Given the description of an element on the screen output the (x, y) to click on. 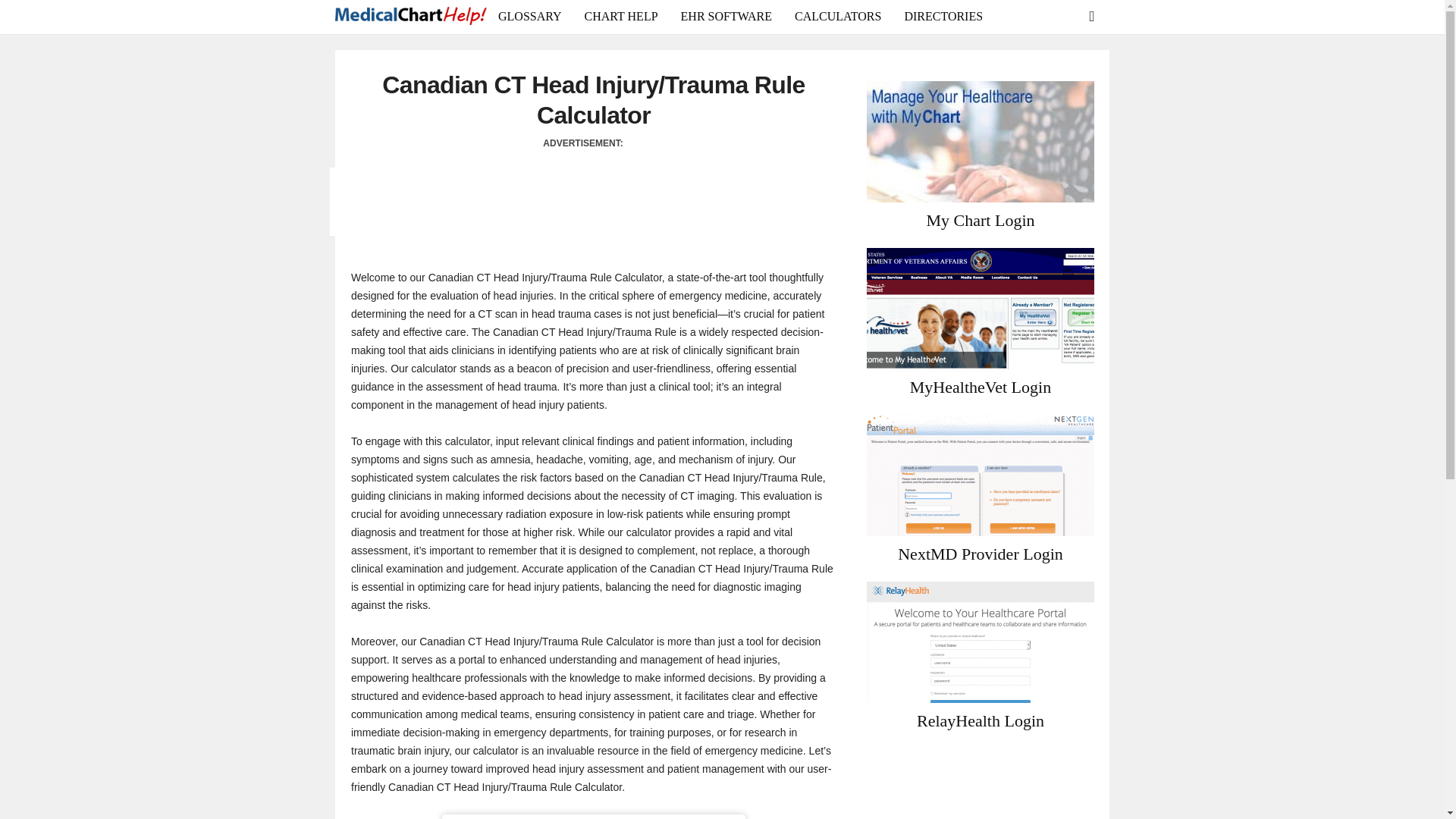
GLOSSARY (529, 16)
Medical Chart Help (410, 16)
CHART HELP (621, 16)
My Chart Login (980, 141)
MyHealtheVet Login (980, 308)
NextMD Provider Login (980, 475)
MyHealtheVet Login (980, 386)
EHR SOFTWARE (726, 16)
My Chart Login (980, 220)
DIRECTORIES (943, 16)
CALCULATORS (837, 16)
My Chart Login (980, 220)
